Given the description of an element on the screen output the (x, y) to click on. 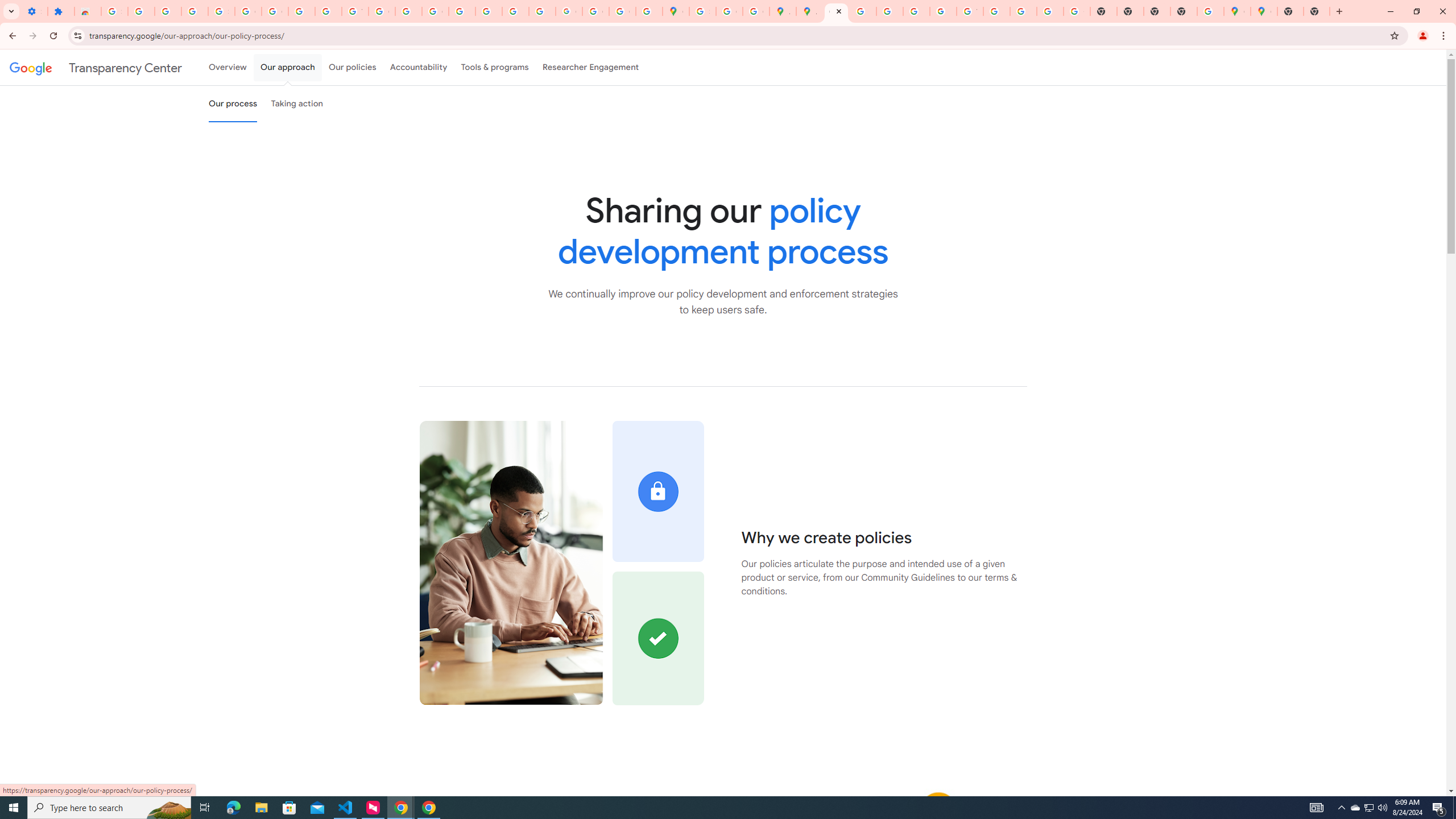
Google Maps (1263, 11)
Privacy Help Center - Policies Help (889, 11)
https://scholar.google.com/ (408, 11)
YouTube (970, 11)
Google Account Help (275, 11)
Sign in - Google Accounts (702, 11)
